Given the description of an element on the screen output the (x, y) to click on. 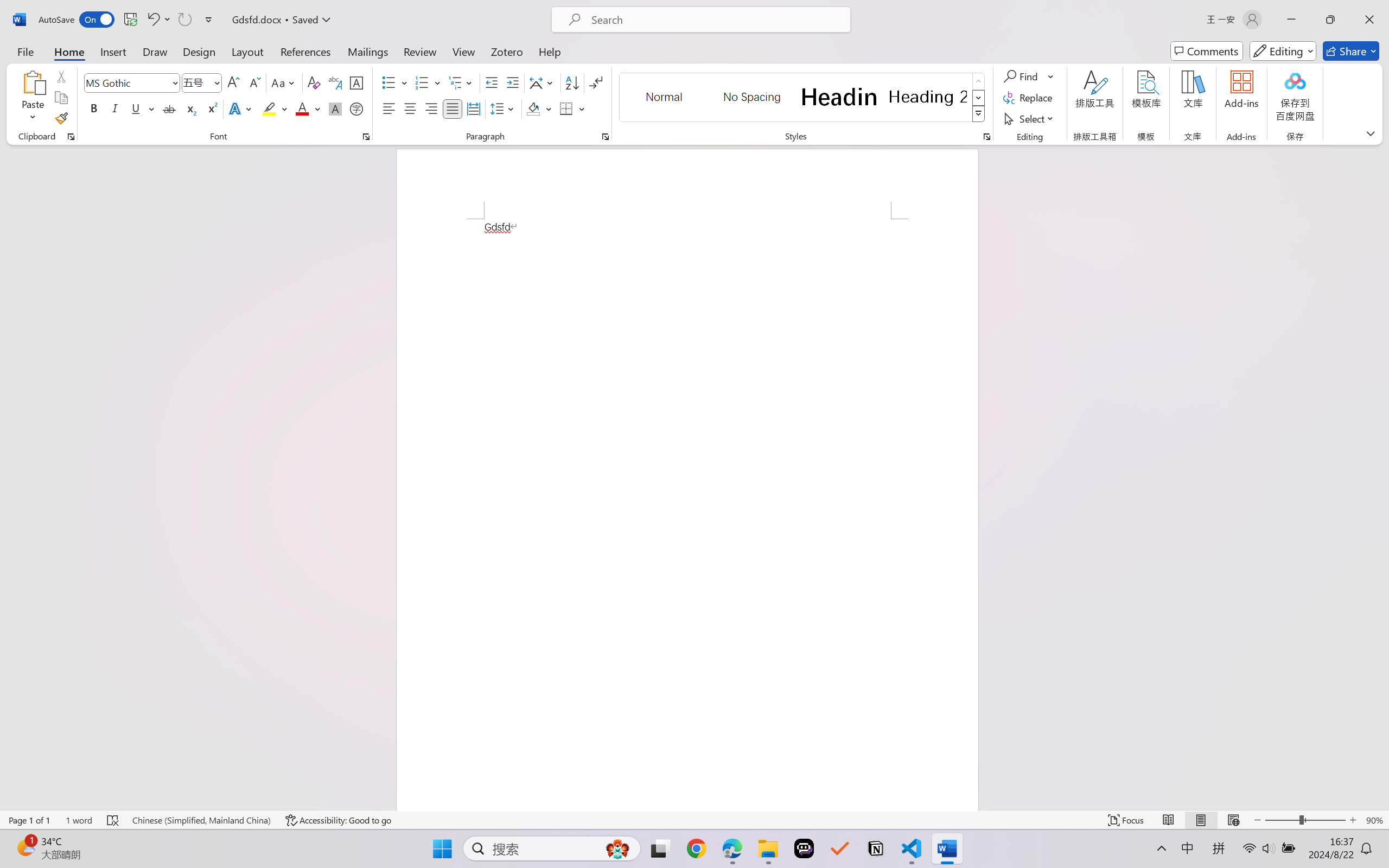
Class: MsoCommandBar (694, 819)
Replace... (1029, 97)
Text Effects and Typography (241, 108)
Can't Repeat (184, 19)
Text Highlight Color Yellow (269, 108)
Font Color Red (302, 108)
Undo Font Formatting (152, 19)
